Given the description of an element on the screen output the (x, y) to click on. 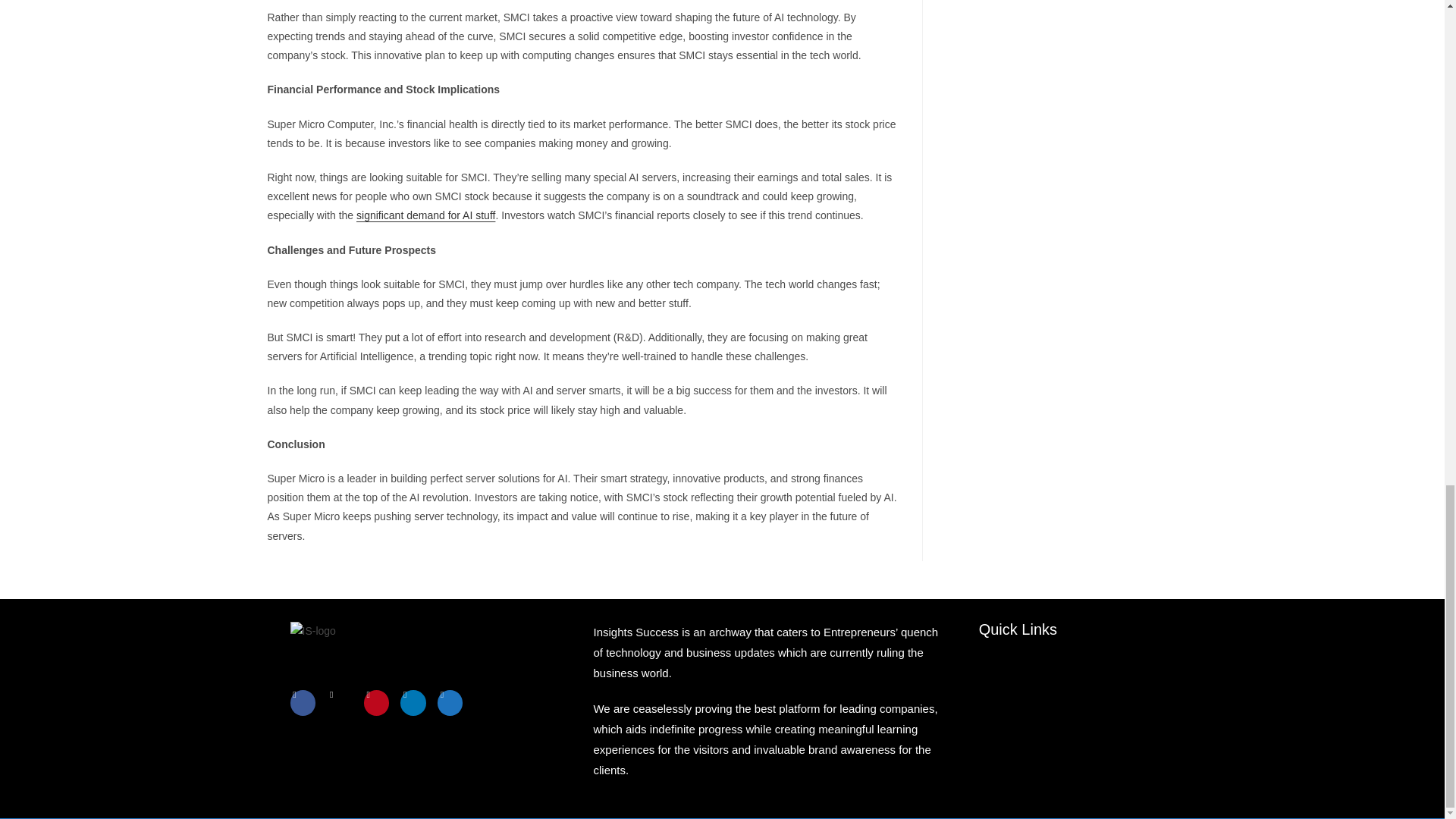
significant demand for AI stuff (425, 176)
